Given the description of an element on the screen output the (x, y) to click on. 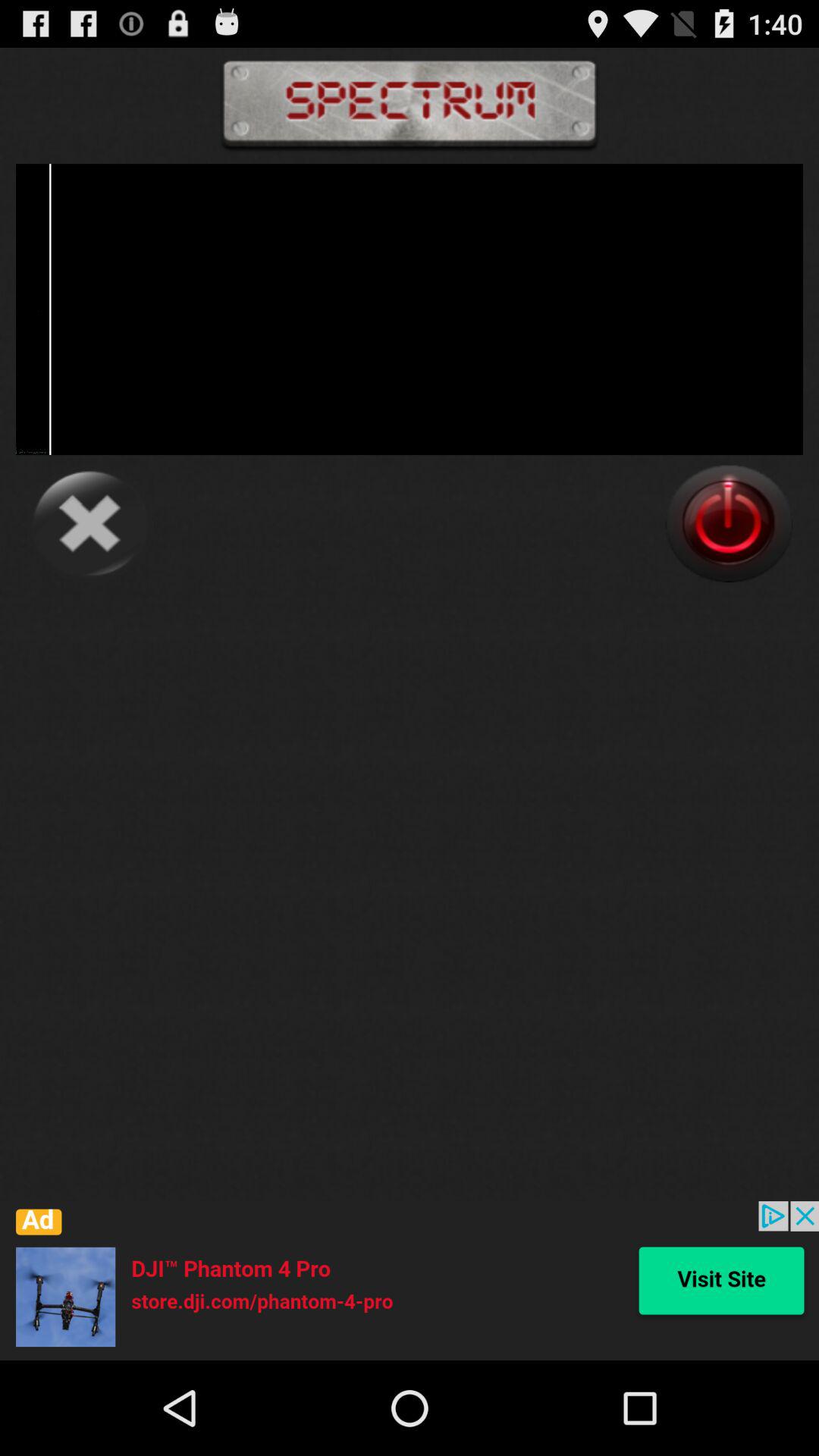
select option (728, 523)
